Given the description of an element on the screen output the (x, y) to click on. 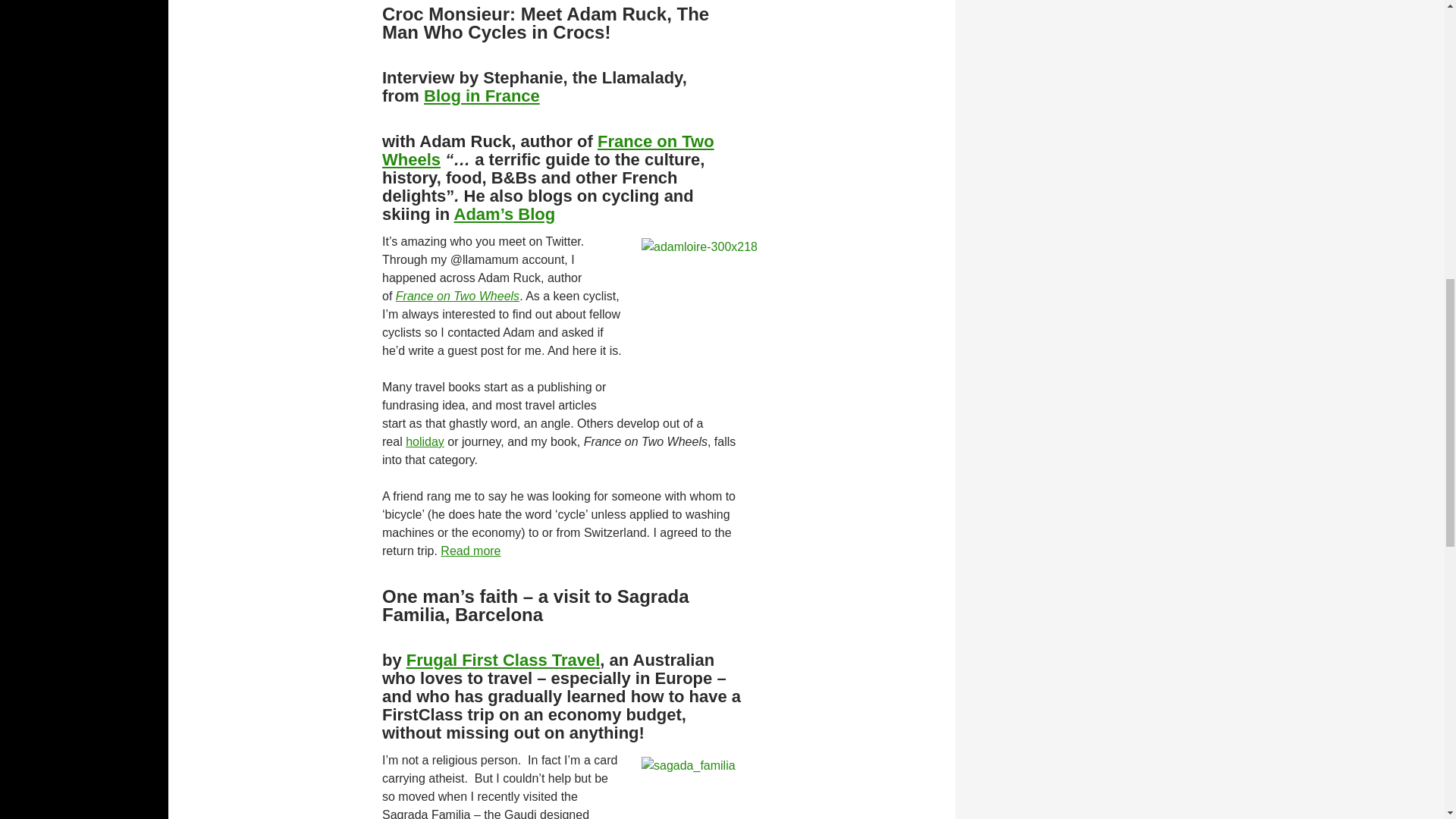
Frugal First Class Travel (502, 659)
holiday (425, 440)
France on Two Wheels (457, 295)
Blog in France (481, 95)
France on Two Wheels (547, 149)
Read more (470, 550)
